Given the description of an element on the screen output the (x, y) to click on. 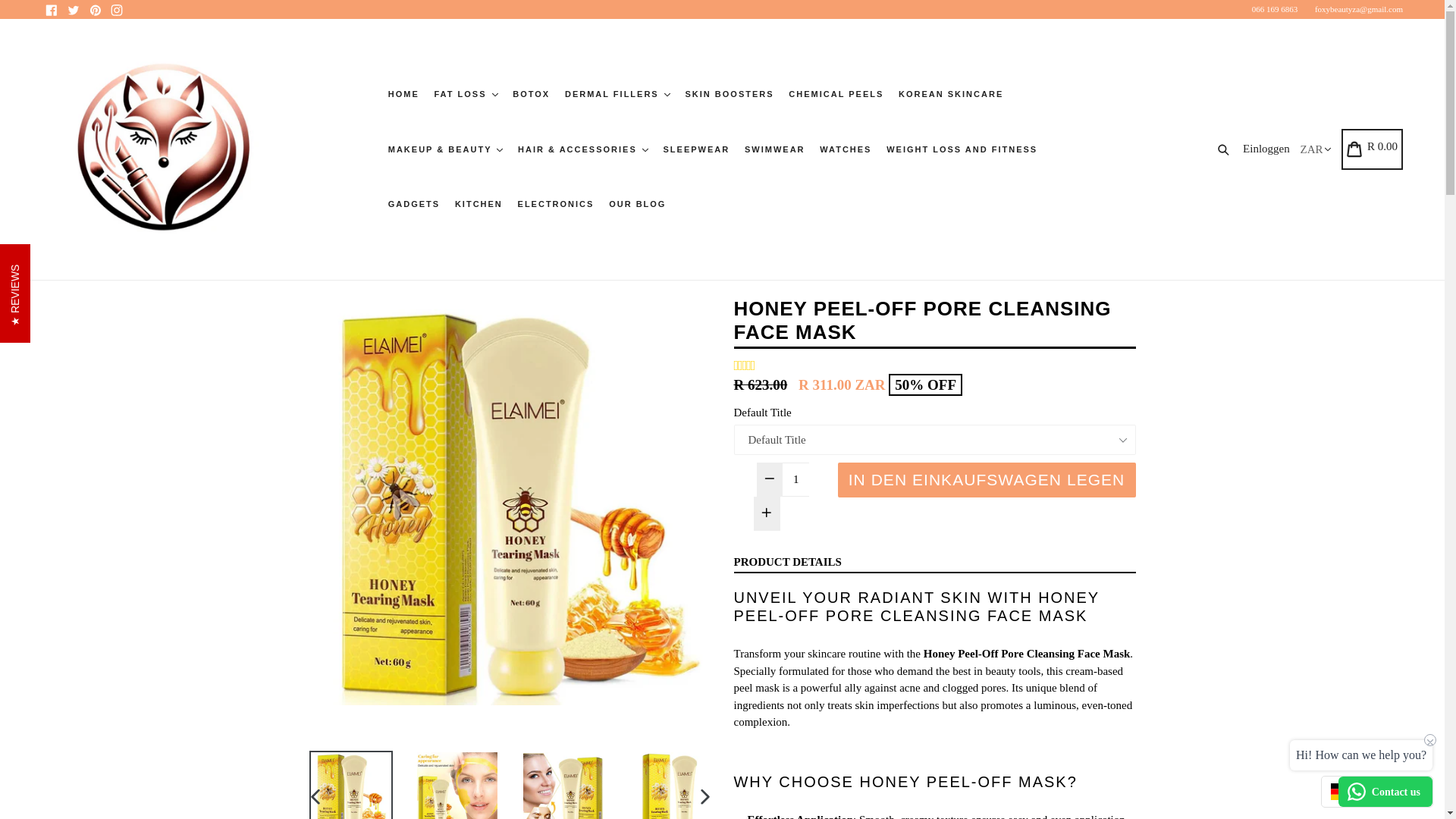
Foxy Beauty auf Twitter (73, 9)
Foxy Beauty auf Instagram (116, 9)
Foxy Beauty auf Facebook (51, 9)
Foxy Beauty auf Pinterest (94, 9)
